Given the description of an element on the screen output the (x, y) to click on. 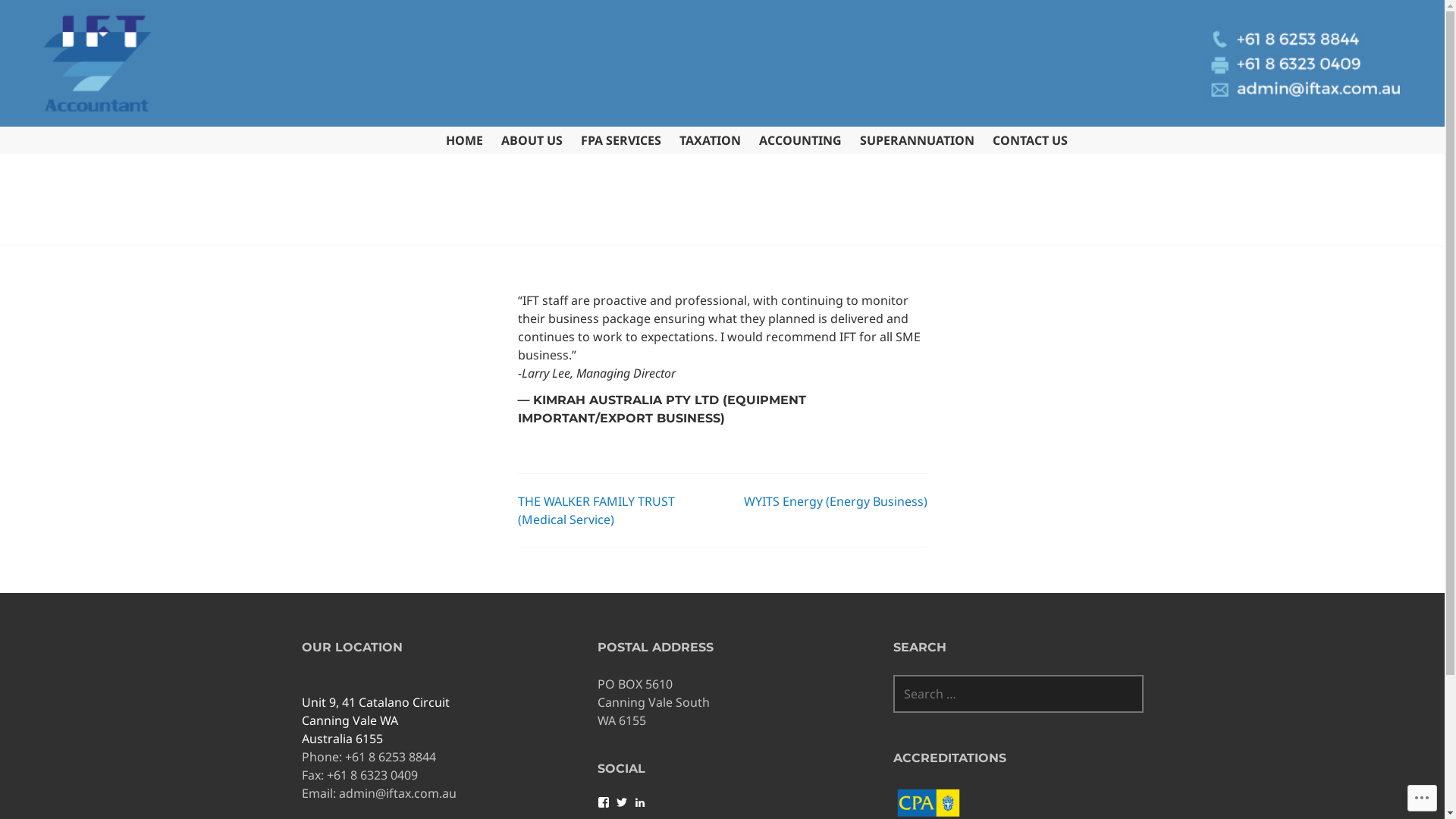
IFT ACCOUNTANT Element type: text (495, 247)
FPA SERVICES Element type: text (620, 140)
ACCOUNTING Element type: text (799, 140)
SUPERANNUATION Element type: text (916, 140)
THE WALKER FAMILY TRUST (Medical Service) Element type: text (595, 509)
ABOUT US Element type: text (530, 140)
CONTACT US Element type: text (1028, 140)
TAXATION Element type: text (709, 140)
HOME Element type: text (464, 140)
Unit 9, 41 Catalano Circuit
Canning Vale WA
Australia 6155 Element type: text (375, 729)
WYITS Energy (Energy Business) Element type: text (834, 500)
Search Element type: text (43, 18)
